Given the description of an element on the screen output the (x, y) to click on. 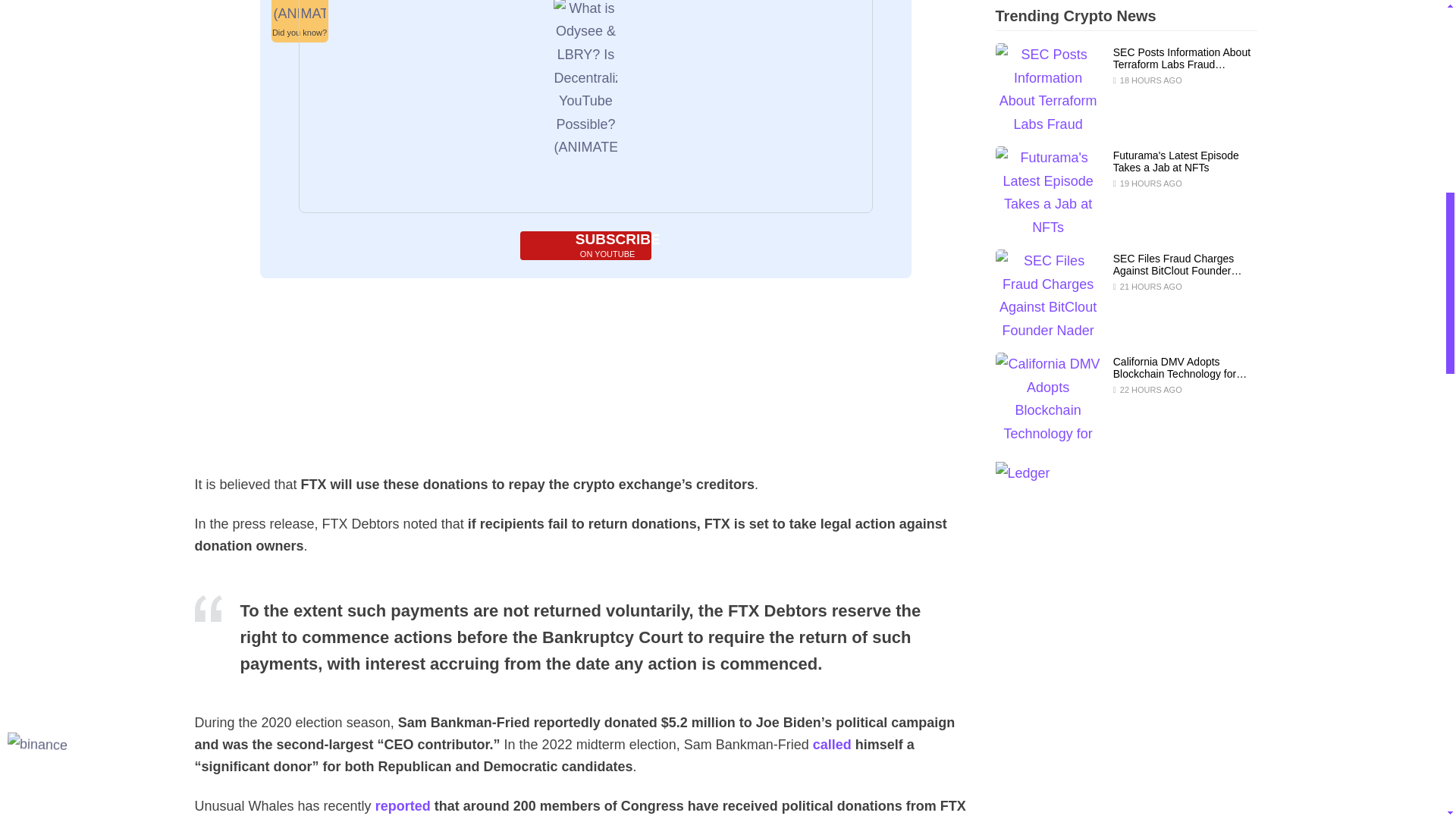
reported (402, 806)
called (831, 744)
